Given the description of an element on the screen output the (x, y) to click on. 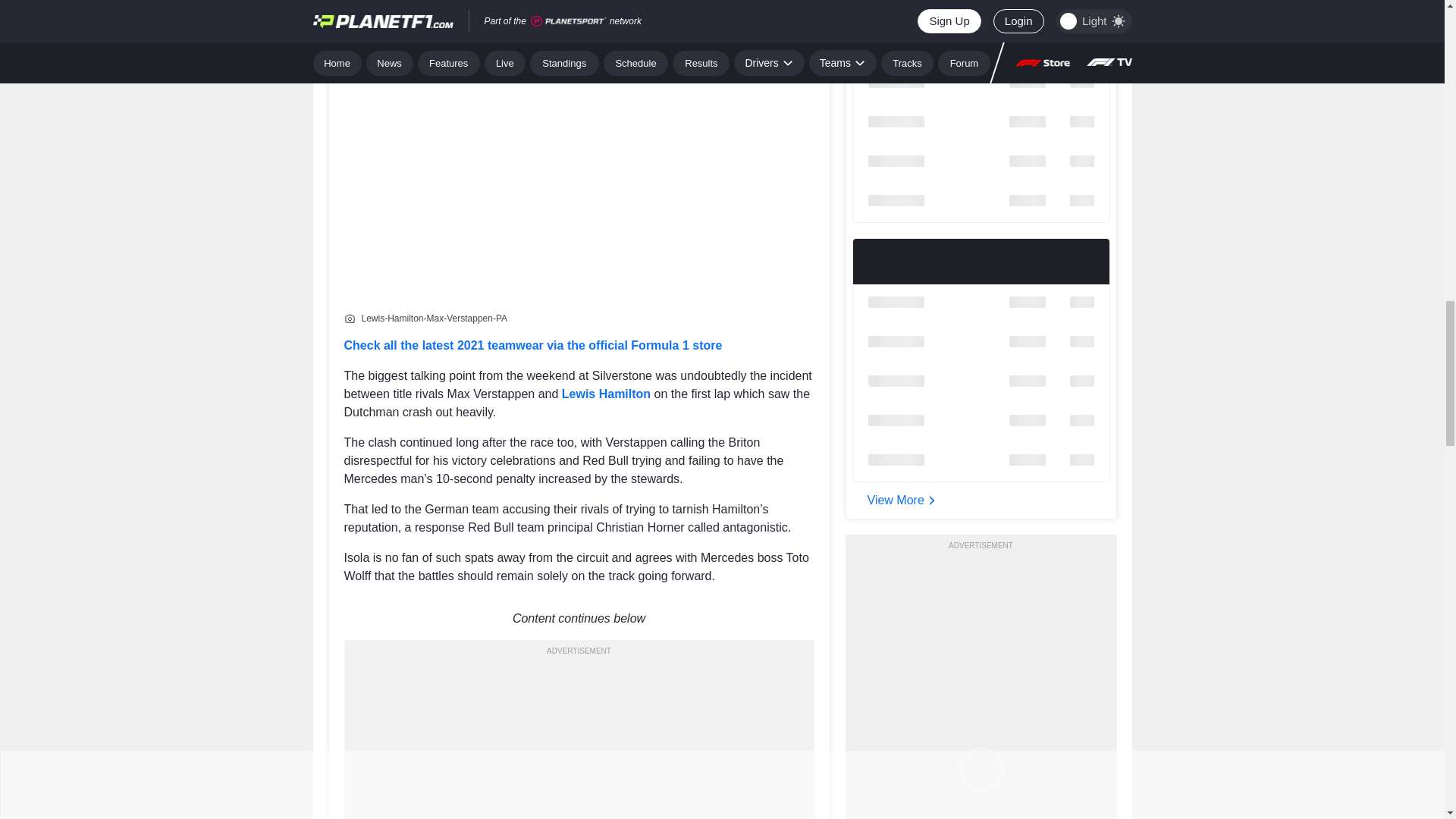
Content continues below (578, 618)
3rd party ad content (579, 739)
